Given the description of an element on the screen output the (x, y) to click on. 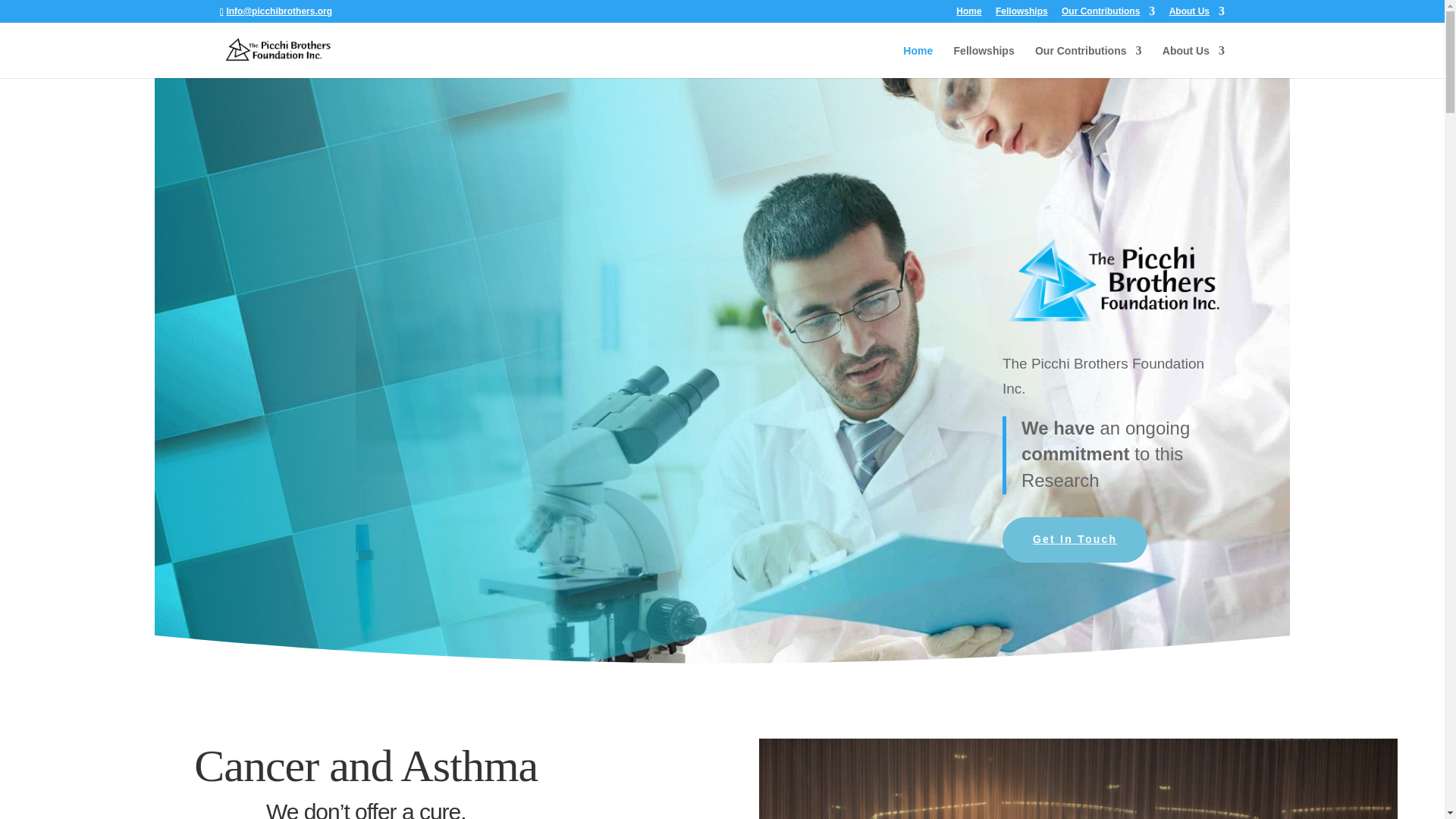
Home (917, 61)
Our Contributions (1107, 14)
Home (968, 14)
About Us (1192, 61)
About Us (1196, 14)
Fellowships (1021, 14)
Our Contributions (1088, 61)
PicchiLogo2024 v2 (1113, 280)
Picchi Awards 2023 recipients (1077, 778)
Fellowships (983, 61)
